Given the description of an element on the screen output the (x, y) to click on. 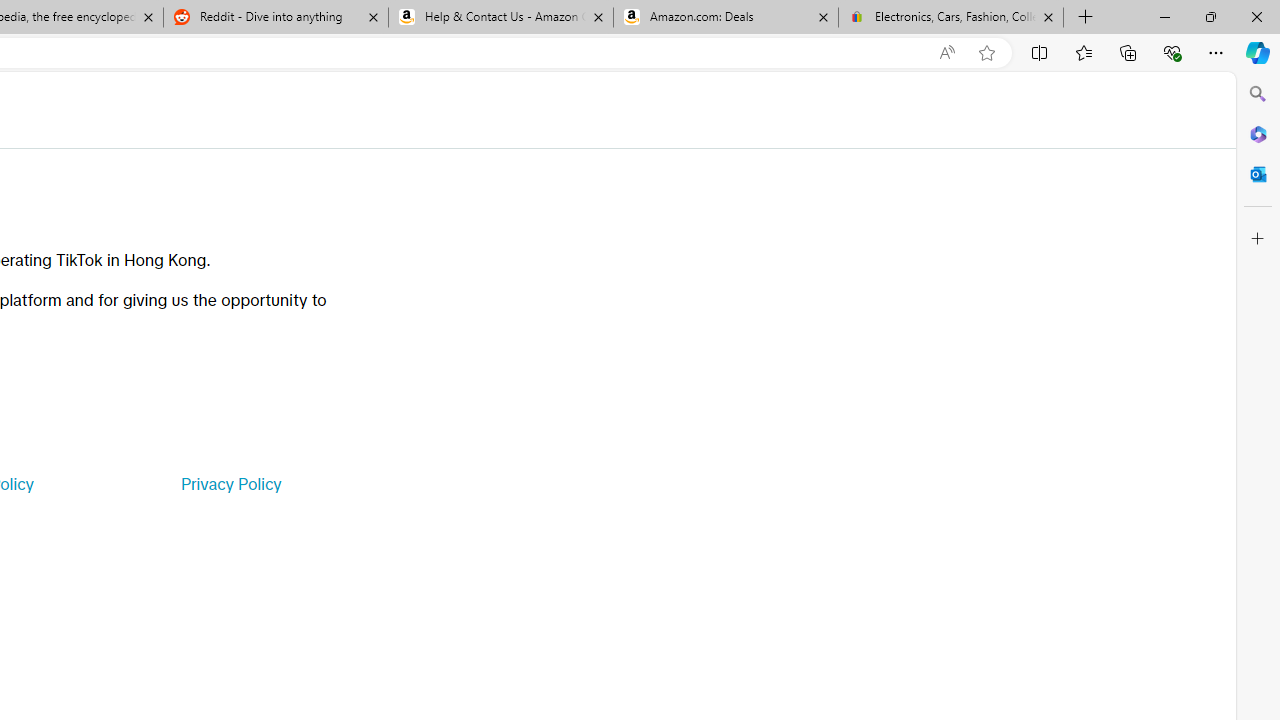
Amazon.com: Deals (726, 17)
Privacy Policy (230, 484)
